Given the description of an element on the screen output the (x, y) to click on. 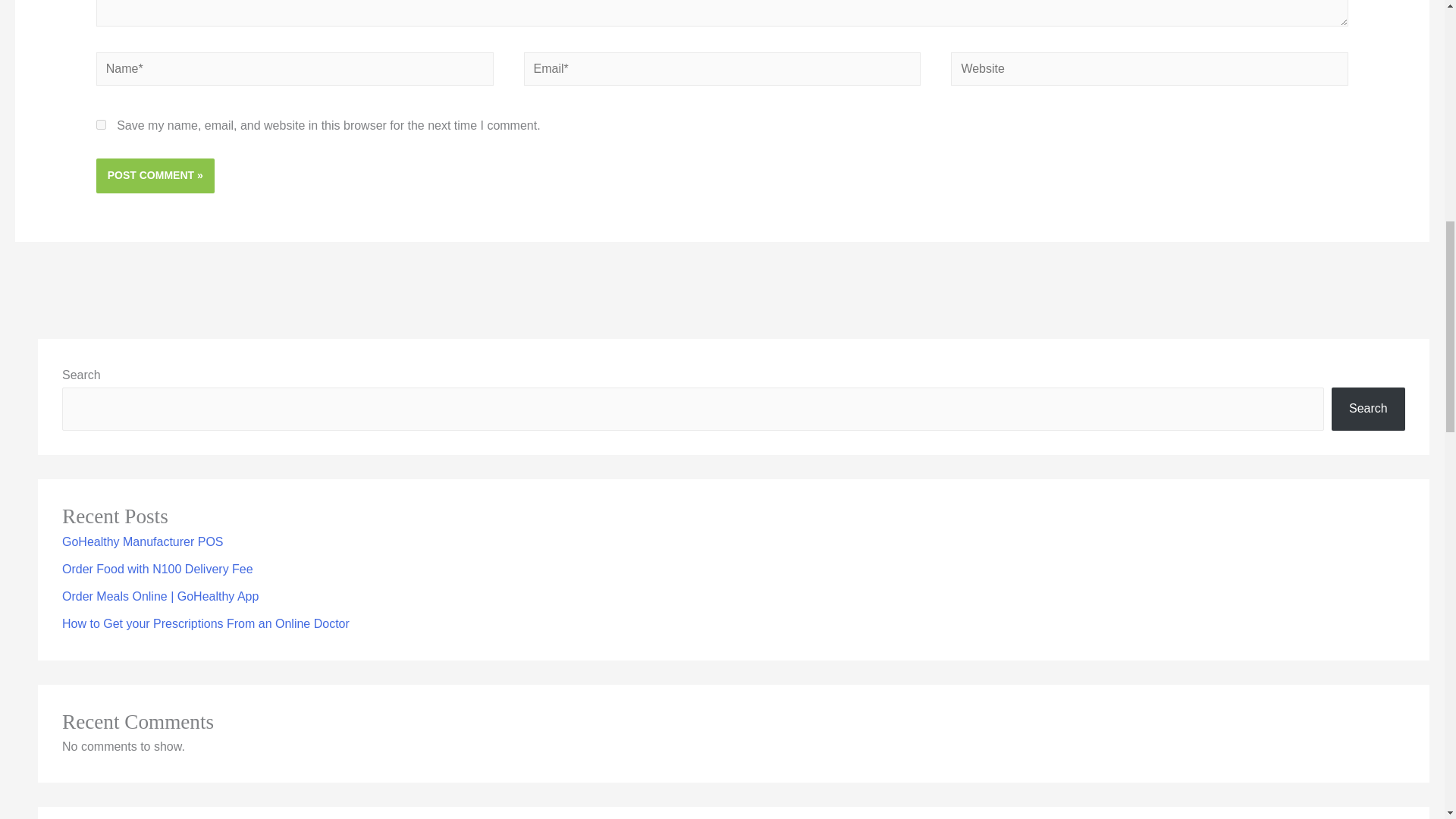
yes (101, 124)
How to Get your Prescriptions From an Online Doctor (205, 623)
Search (1368, 408)
GoHealthy Manufacturer POS (143, 541)
Order Food with N100 Delivery Fee (157, 568)
